Given the description of an element on the screen output the (x, y) to click on. 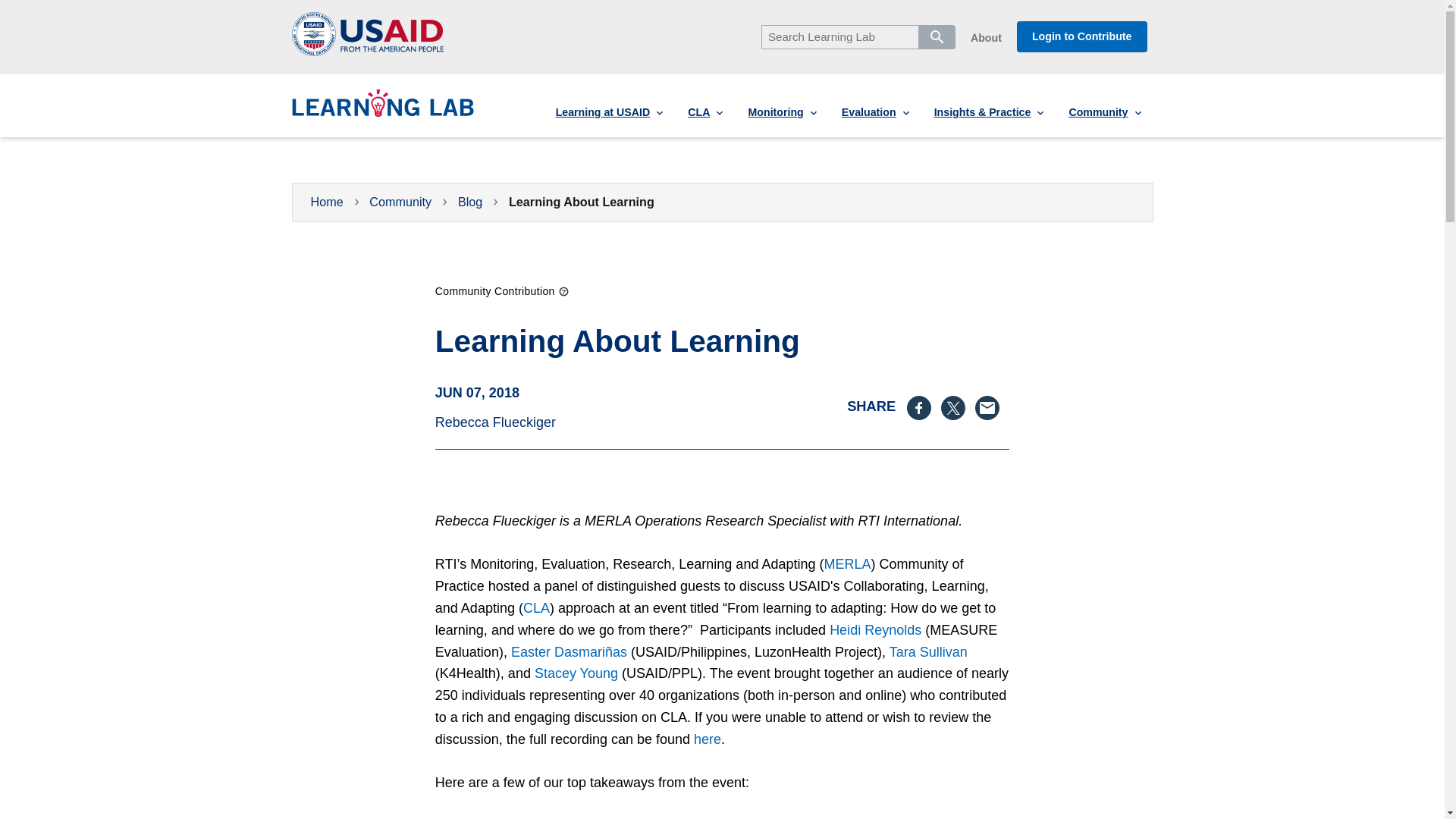
Stacey Young (575, 672)
Share this page through email. (992, 407)
Share this page on Facebook (923, 407)
here (707, 739)
MERLA (847, 563)
CLA (536, 607)
Login to Contribute (1081, 36)
Share this page on Twitter (957, 407)
Community (1104, 112)
Heidi Reynolds (875, 630)
Learning at USAID (609, 112)
Home (382, 110)
Monitoring (781, 112)
About Learning Lab (986, 37)
Community (399, 201)
